Given the description of an element on the screen output the (x, y) to click on. 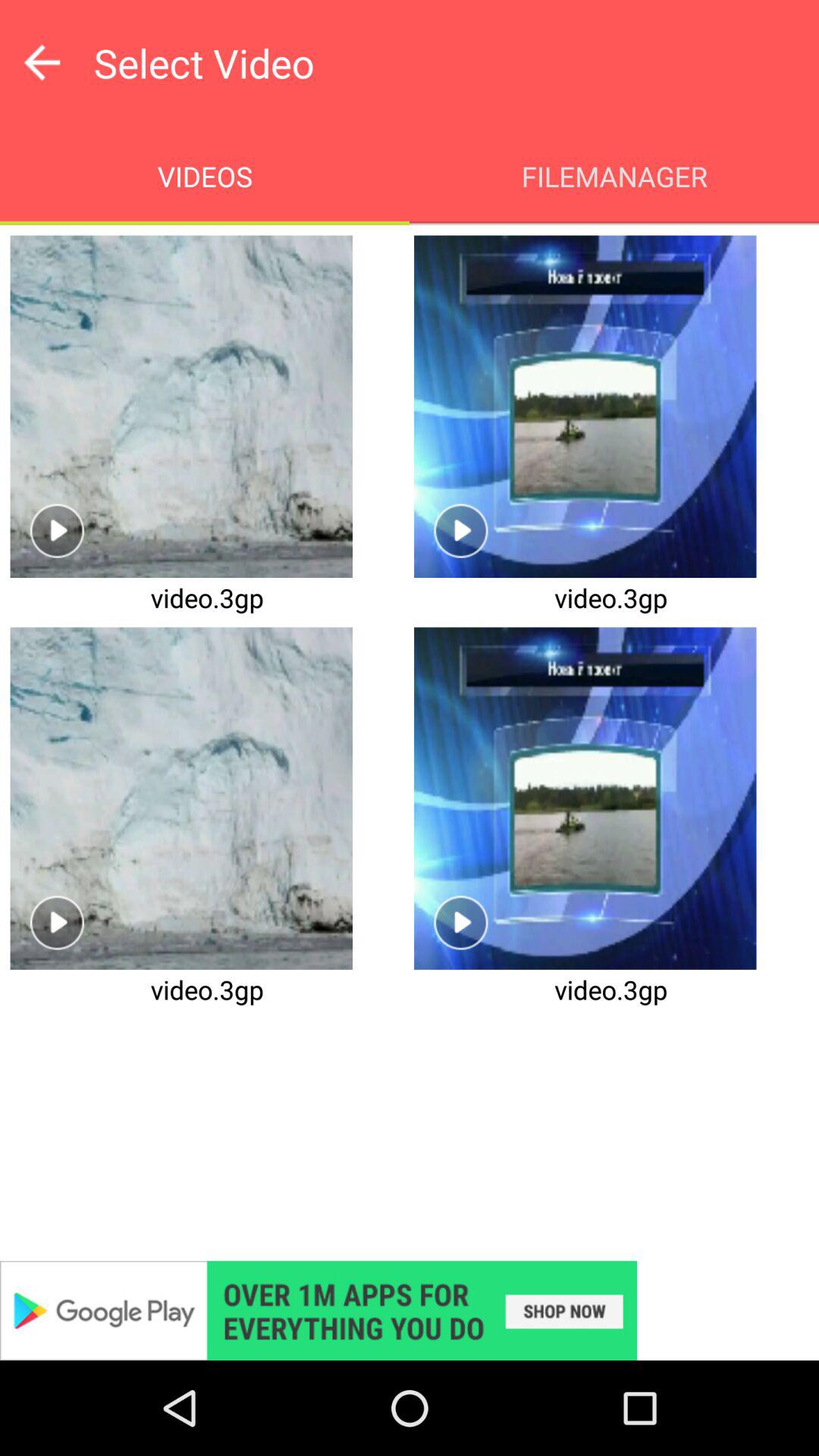
google play over 1m apps for everthing you do shop now (409, 1310)
